Given the description of an element on the screen output the (x, y) to click on. 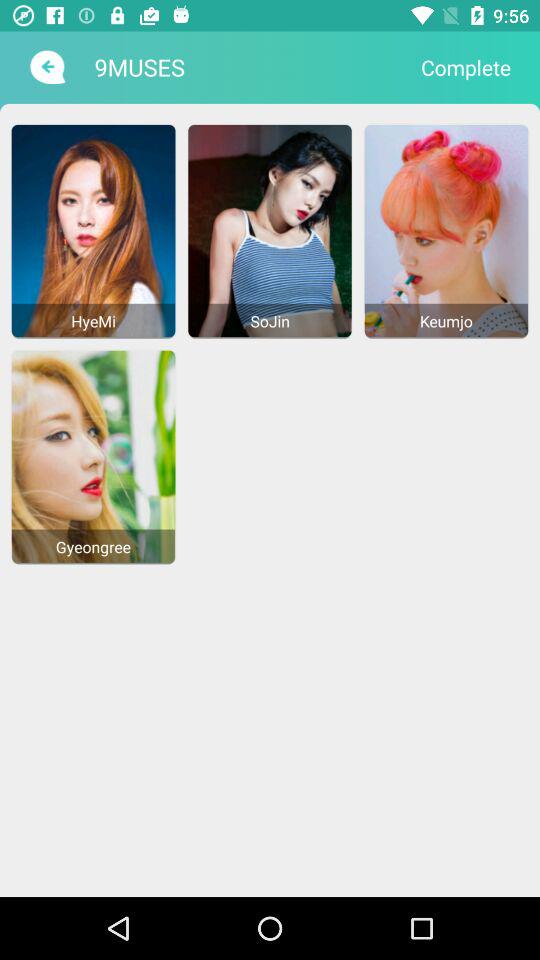
launch the icon to the right of the 9muses (465, 67)
